Given the description of an element on the screen output the (x, y) to click on. 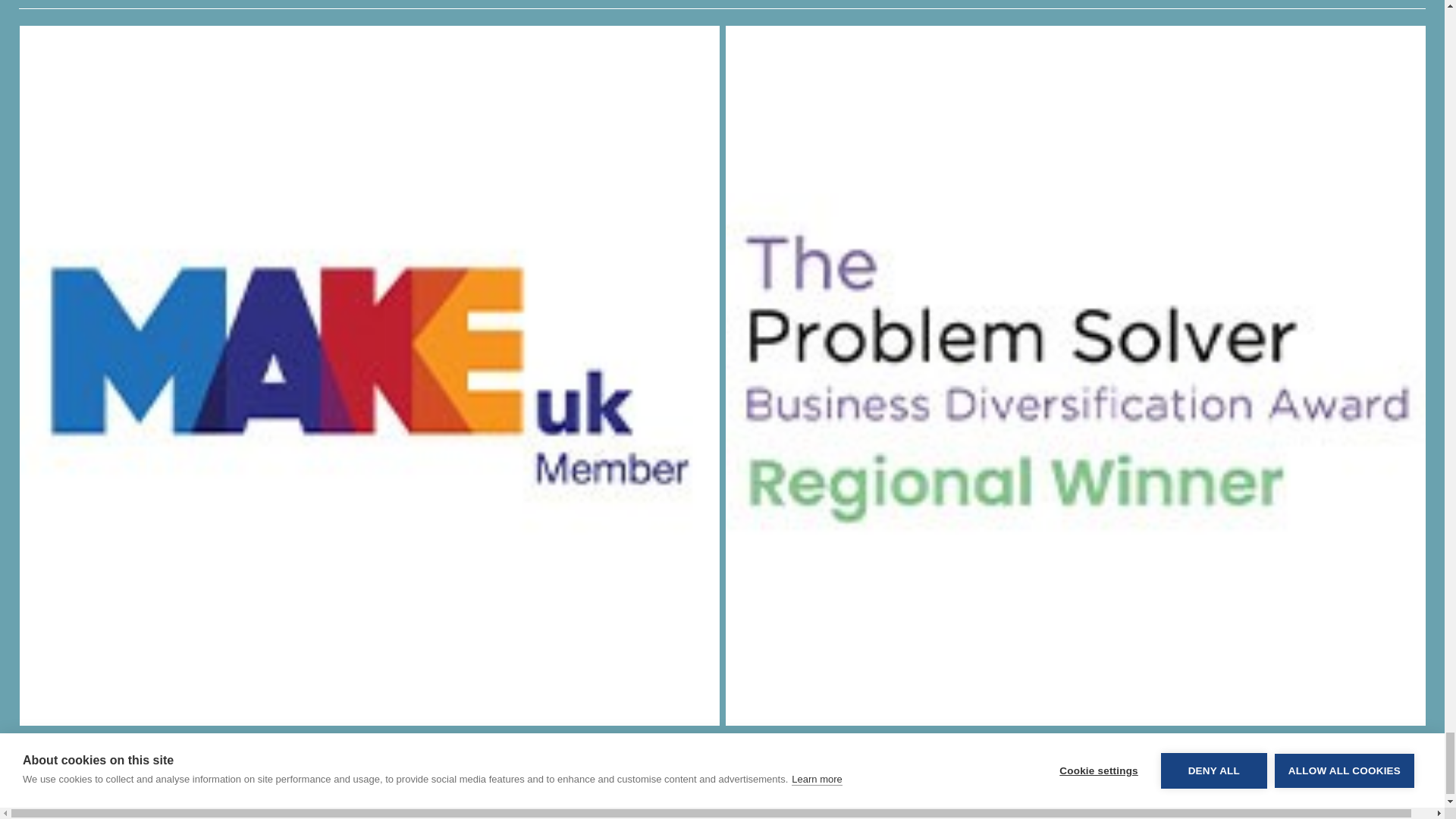
Web design by Warp Design (338, 811)
